Given the description of an element on the screen output the (x, y) to click on. 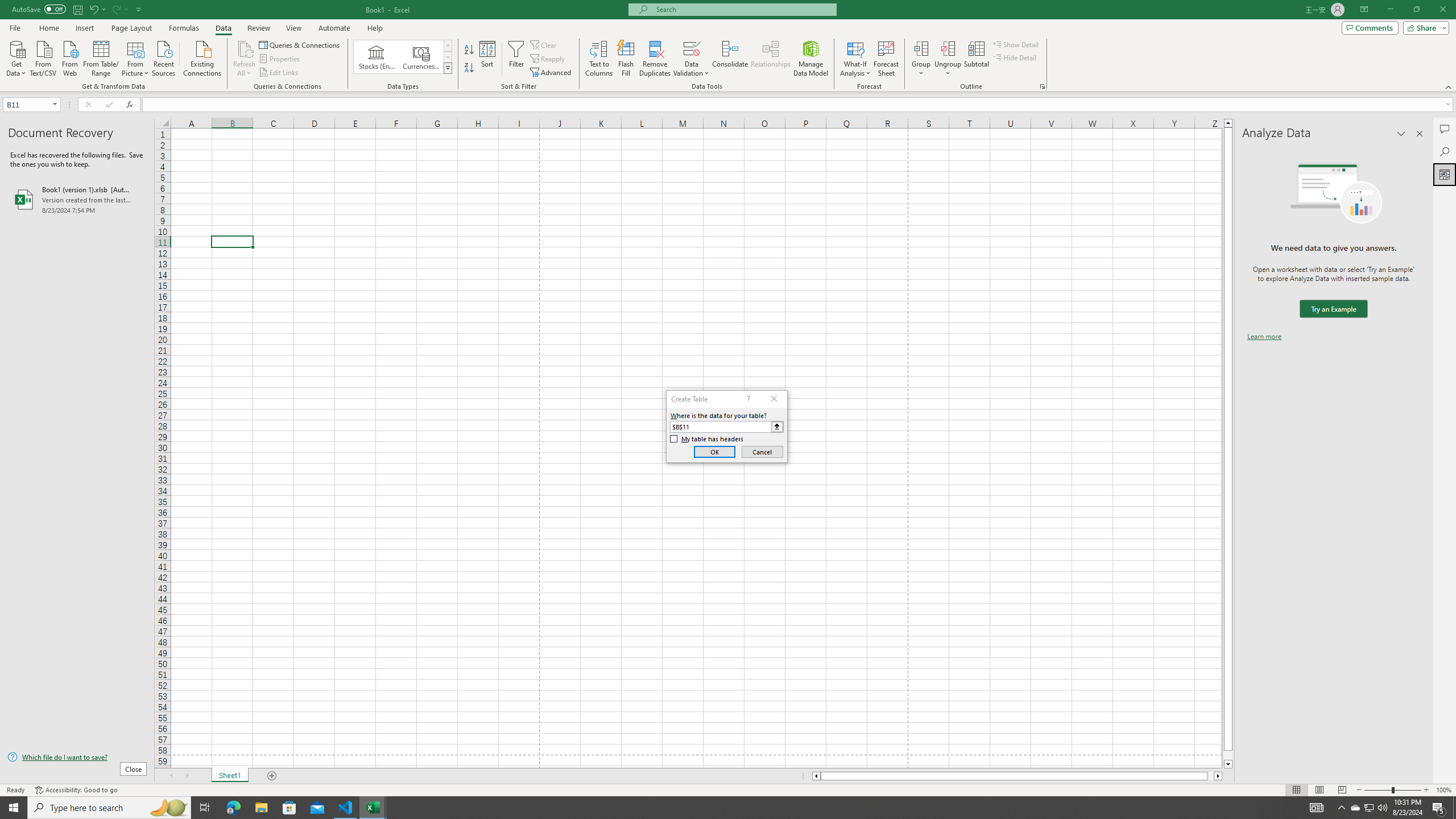
Currencies (English) (420, 56)
Stocks (English) (375, 56)
Close pane (1419, 133)
Undo (96, 9)
Show Detail (1016, 44)
Data (223, 28)
Refresh All (244, 58)
Quick Access Toolbar (77, 9)
Analyze Data (1444, 173)
Forecast Sheet (885, 58)
AutomationID: ConvertToLinkedEntity (403, 56)
Clear (544, 44)
Name Box (27, 104)
Class: NetUIScrollBar (1016, 775)
Automate (334, 28)
